Given the description of an element on the screen output the (x, y) to click on. 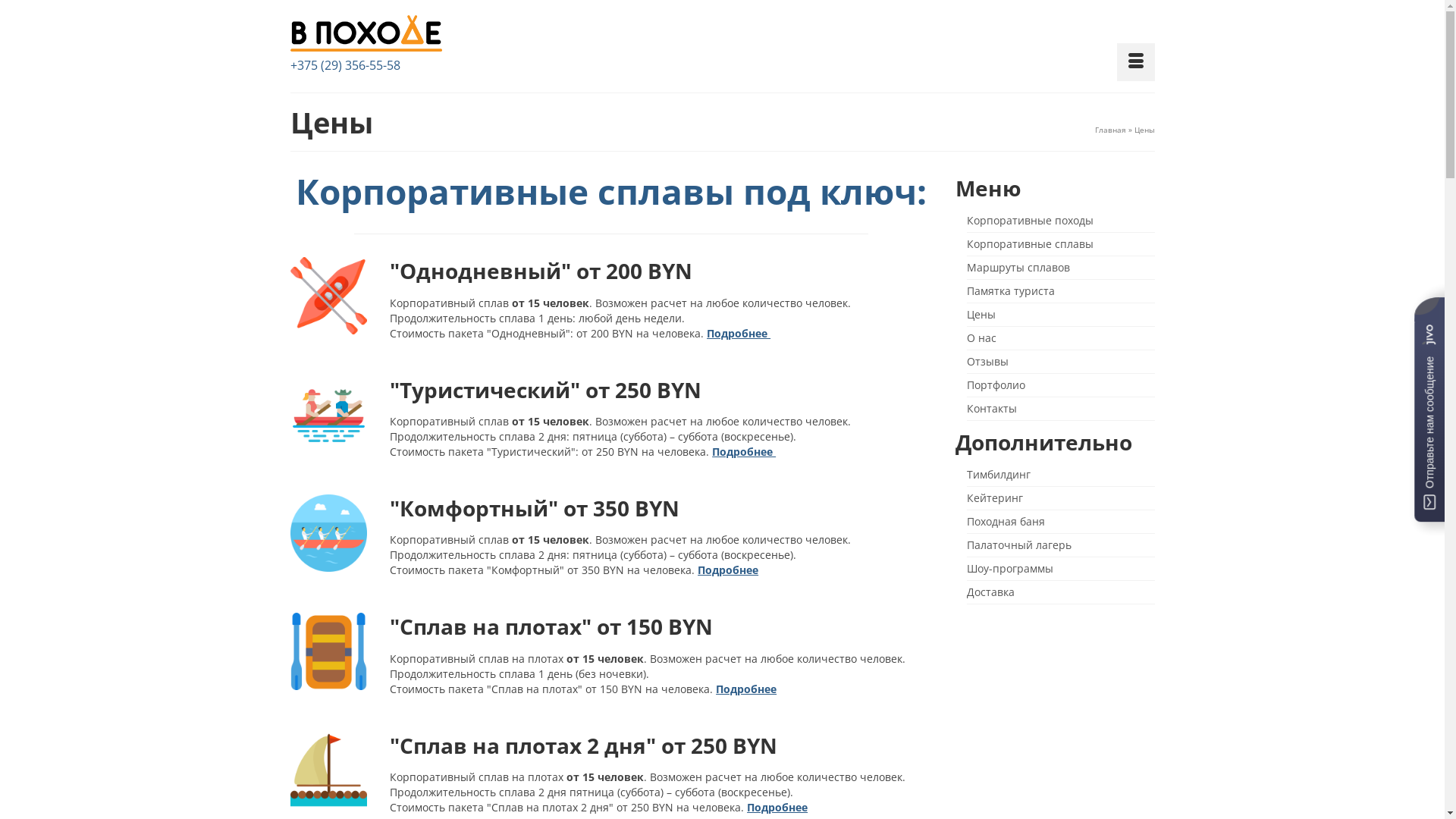
Vpohode.by Element type: hover (425, 35)
+375 (29) 356-55-58 Element type: text (344, 64)
